Given the description of an element on the screen output the (x, y) to click on. 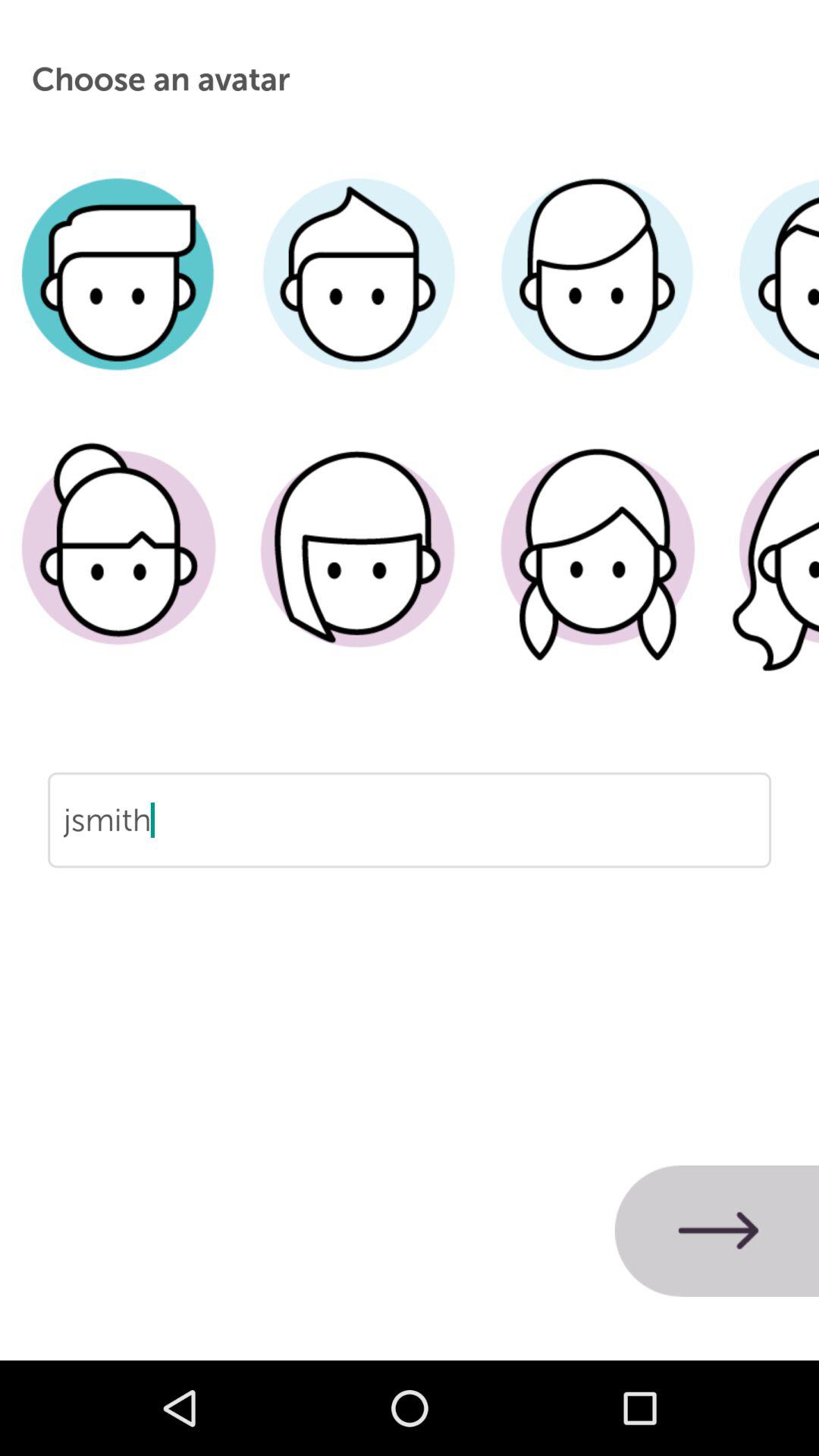
change avatar option (357, 296)
